Given the description of an element on the screen output the (x, y) to click on. 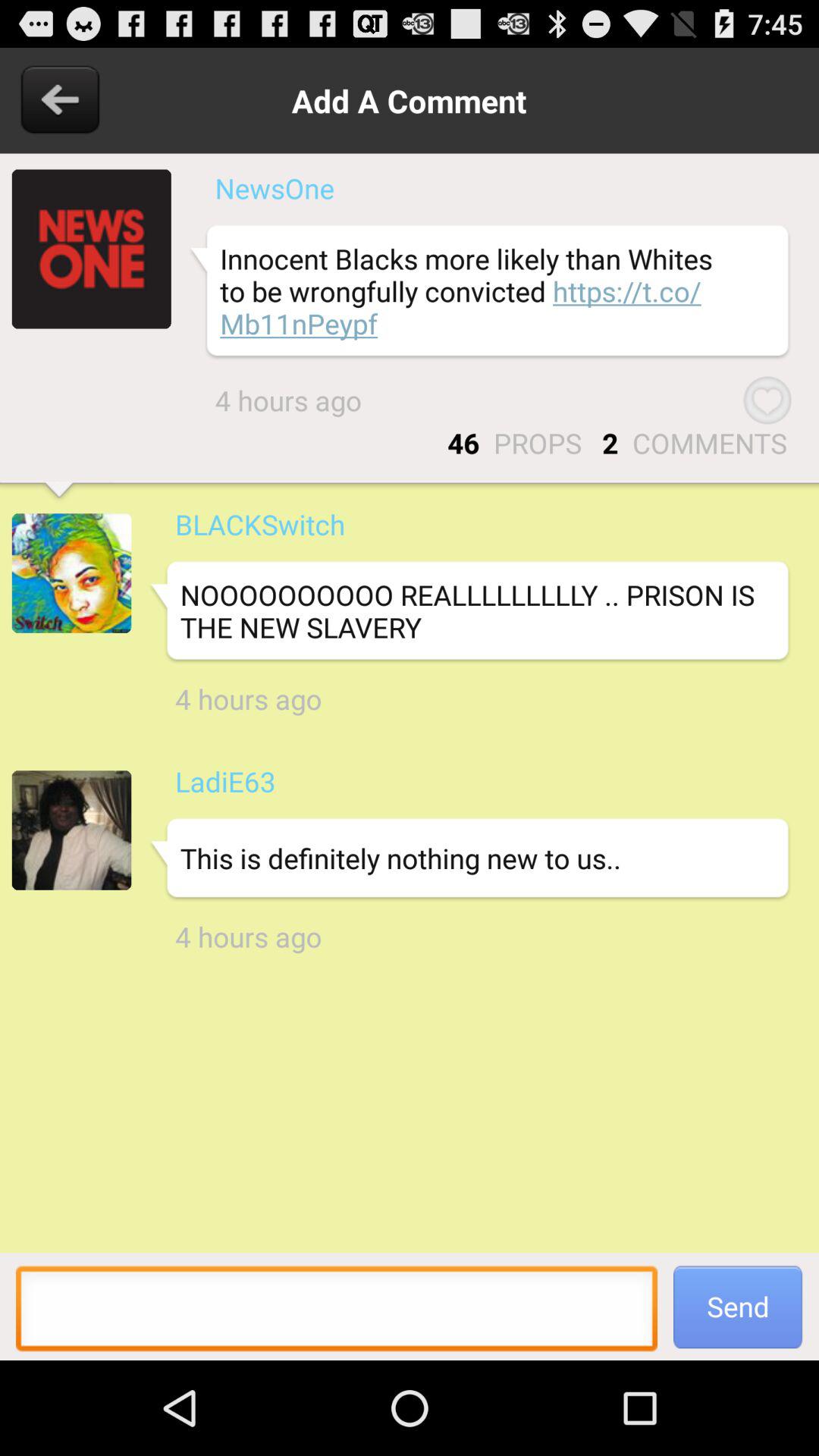
click on the avatar (71, 573)
